Given the description of an element on the screen output the (x, y) to click on. 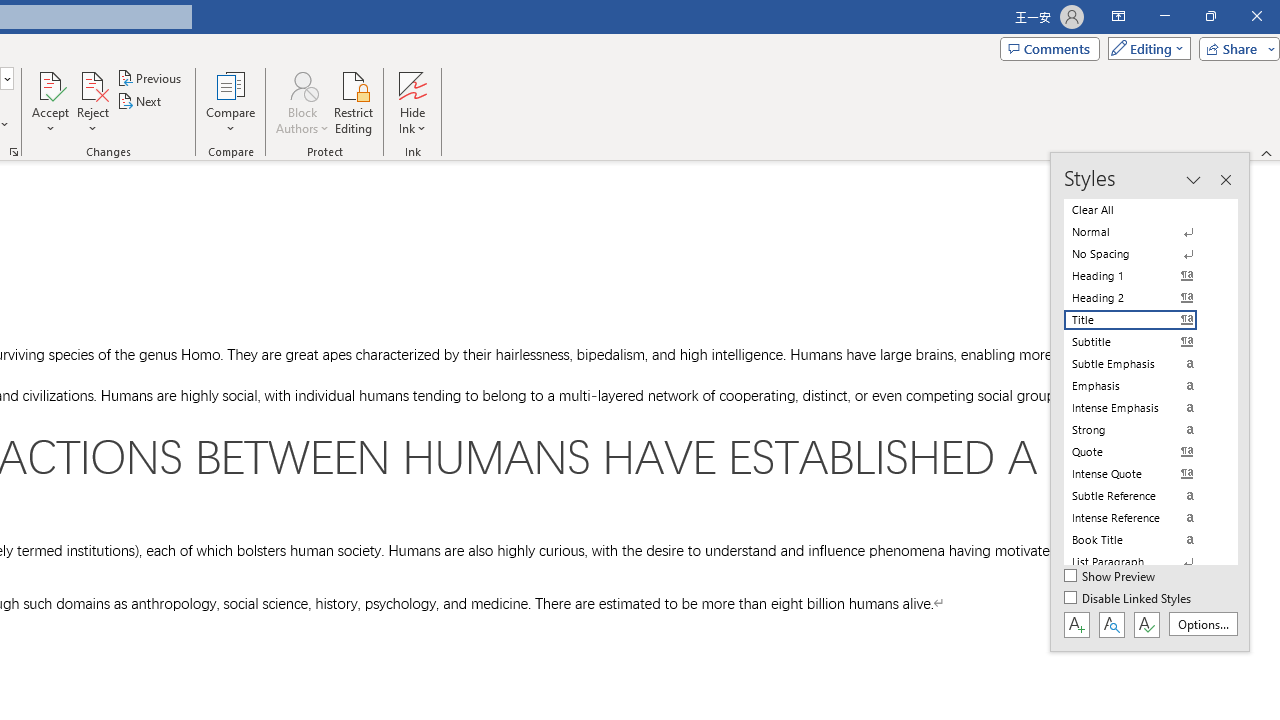
Title (1142, 319)
Quote (1142, 451)
Restrict Editing (353, 102)
Next (140, 101)
Previous (150, 78)
Subtitle (1142, 341)
Heading 2 (1142, 297)
Book Title (1142, 539)
Class: NetUIButton (1146, 624)
Disable Linked Styles (1129, 599)
Reject (92, 102)
Class: MsoCommandBar (1149, 401)
Heading 1 (1142, 275)
Subtle Reference (1142, 495)
